Given the description of an element on the screen output the (x, y) to click on. 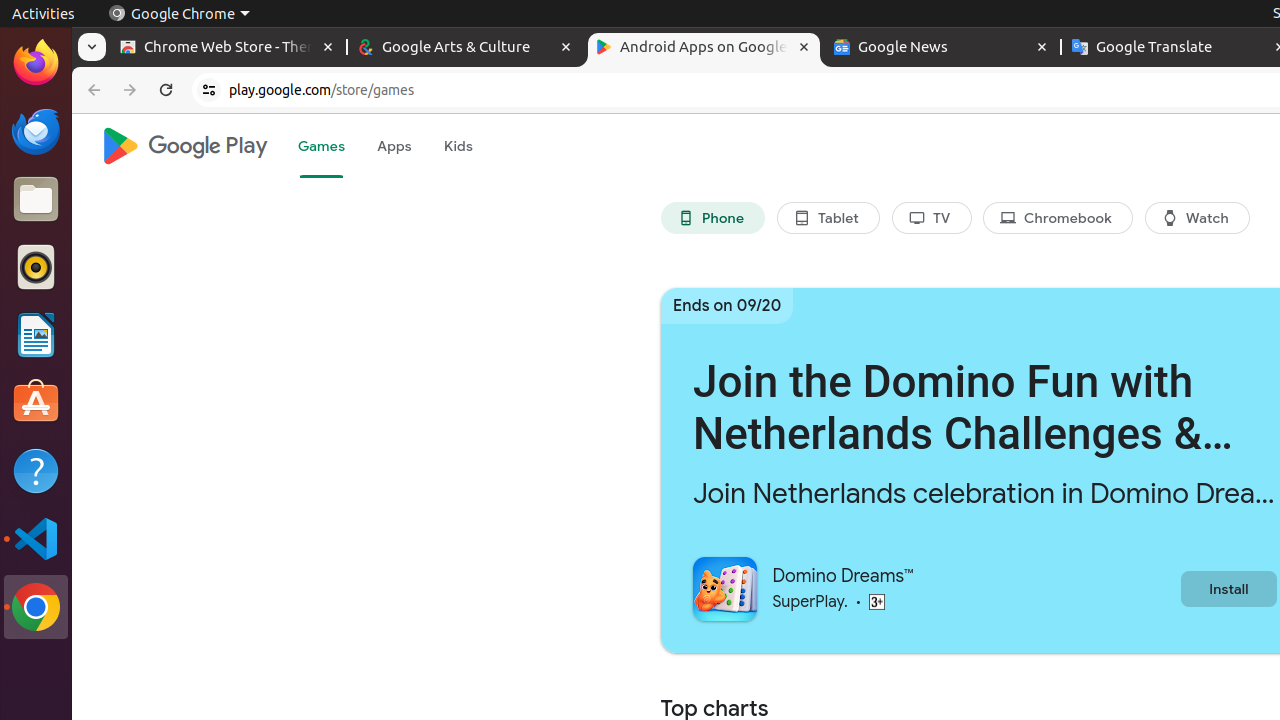
Ubuntu Software Element type: push-button (36, 402)
Watch Element type: link (1198, 218)
